Given the description of an element on the screen output the (x, y) to click on. 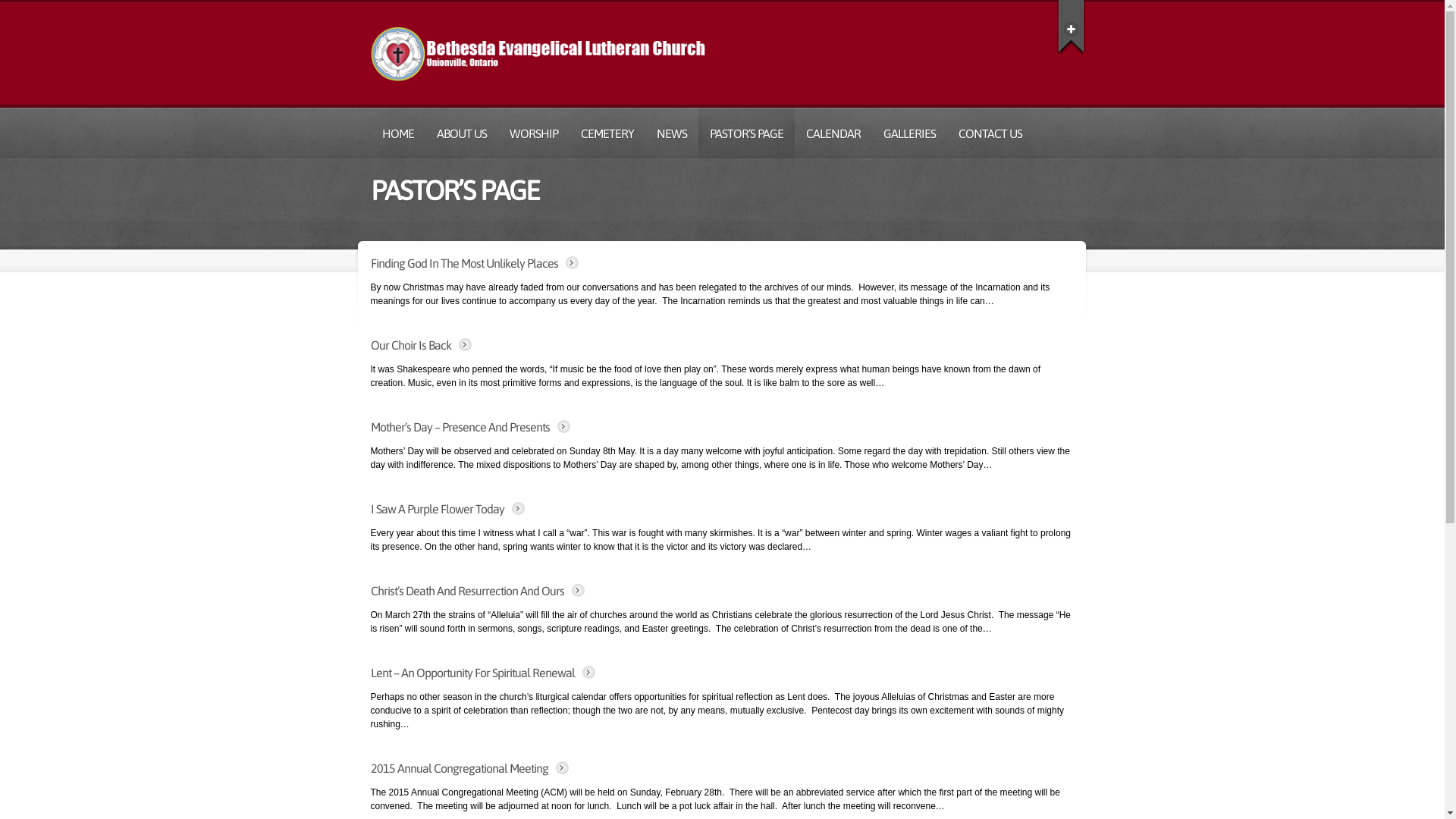
GALLERIES Element type: text (909, 133)
CONTACT US Element type: text (989, 133)
WORSHIP Element type: text (532, 133)
CEMETERY Element type: text (606, 133)
I Saw A Purple Flower Today Element type: text (436, 508)
Our Choir Is Back Element type: text (410, 344)
HOME Element type: text (397, 133)
Finding God In The Most Unlikely Places Element type: text (463, 262)
ABOUT US Element type: text (460, 133)
2015 Annual Congregational Meeting Element type: text (458, 768)
NEWS Element type: text (670, 133)
CALENDAR Element type: text (833, 133)
+ Element type: text (1070, 26)
